Given the description of an element on the screen output the (x, y) to click on. 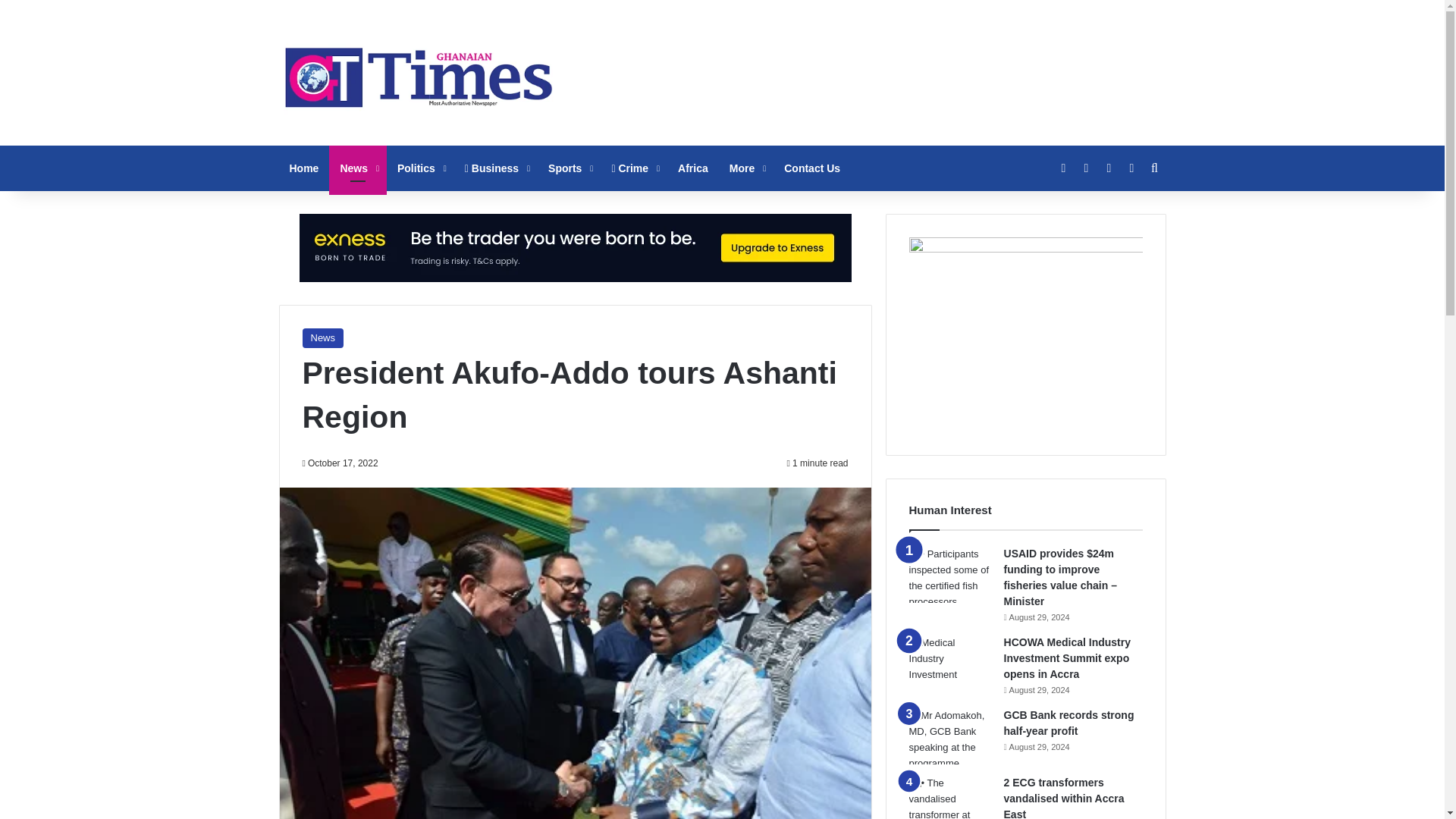
Business (495, 167)
Contact Us (811, 167)
Crime (632, 167)
Sports (568, 167)
Home (304, 167)
More (746, 167)
Africa (692, 167)
Ghanaian Times (419, 72)
News (322, 338)
News (358, 167)
